Given the description of an element on the screen output the (x, y) to click on. 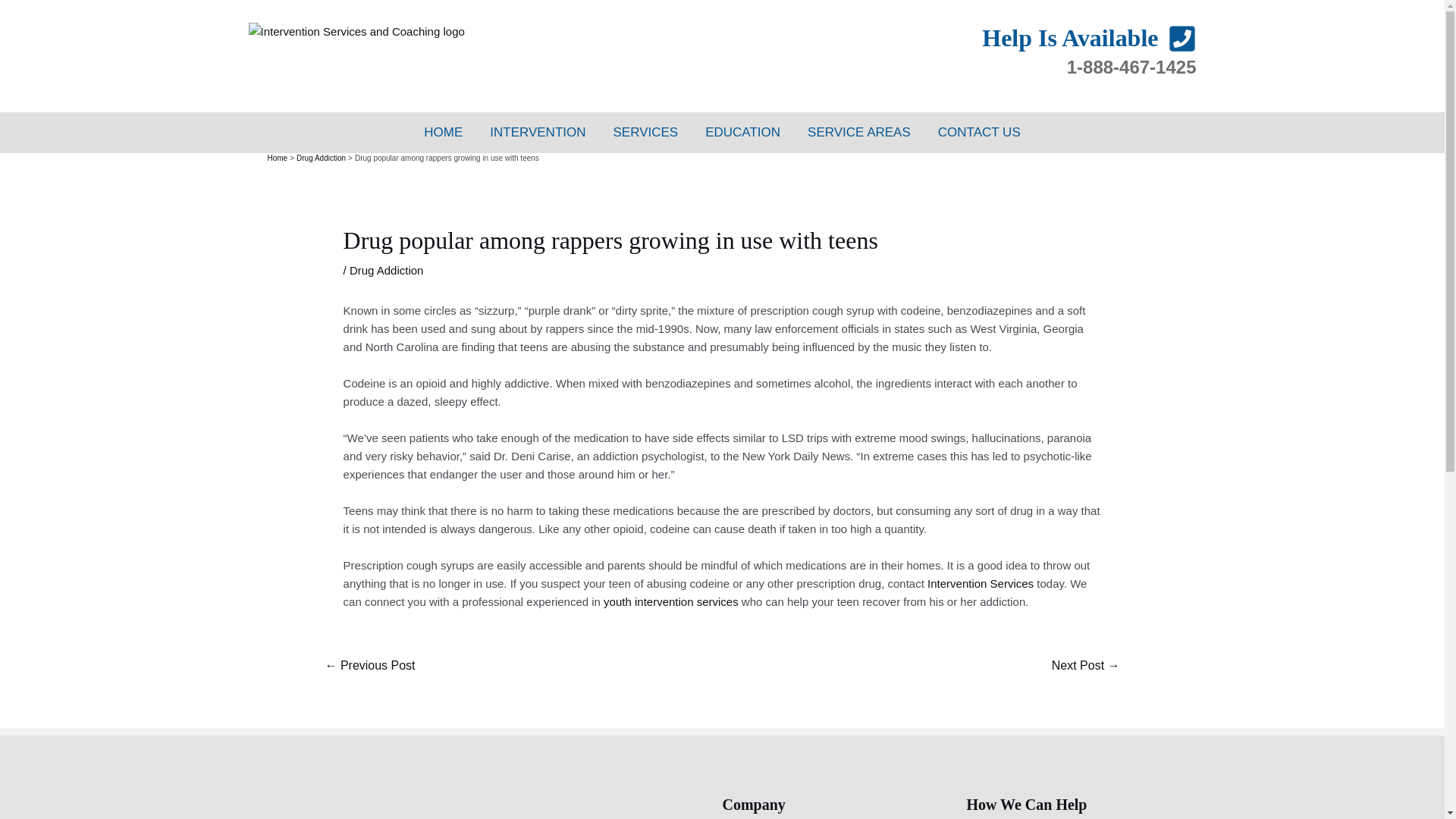
CONTACT US (978, 132)
HOME (443, 132)
EDUCATION (742, 132)
INTERVENTION (537, 132)
Heroin use on the rise, with a new face (1085, 666)
Alcoholism: Not just a male issue (368, 666)
SERVICES (646, 132)
SERVICE AREAS (858, 132)
